Given the description of an element on the screen output the (x, y) to click on. 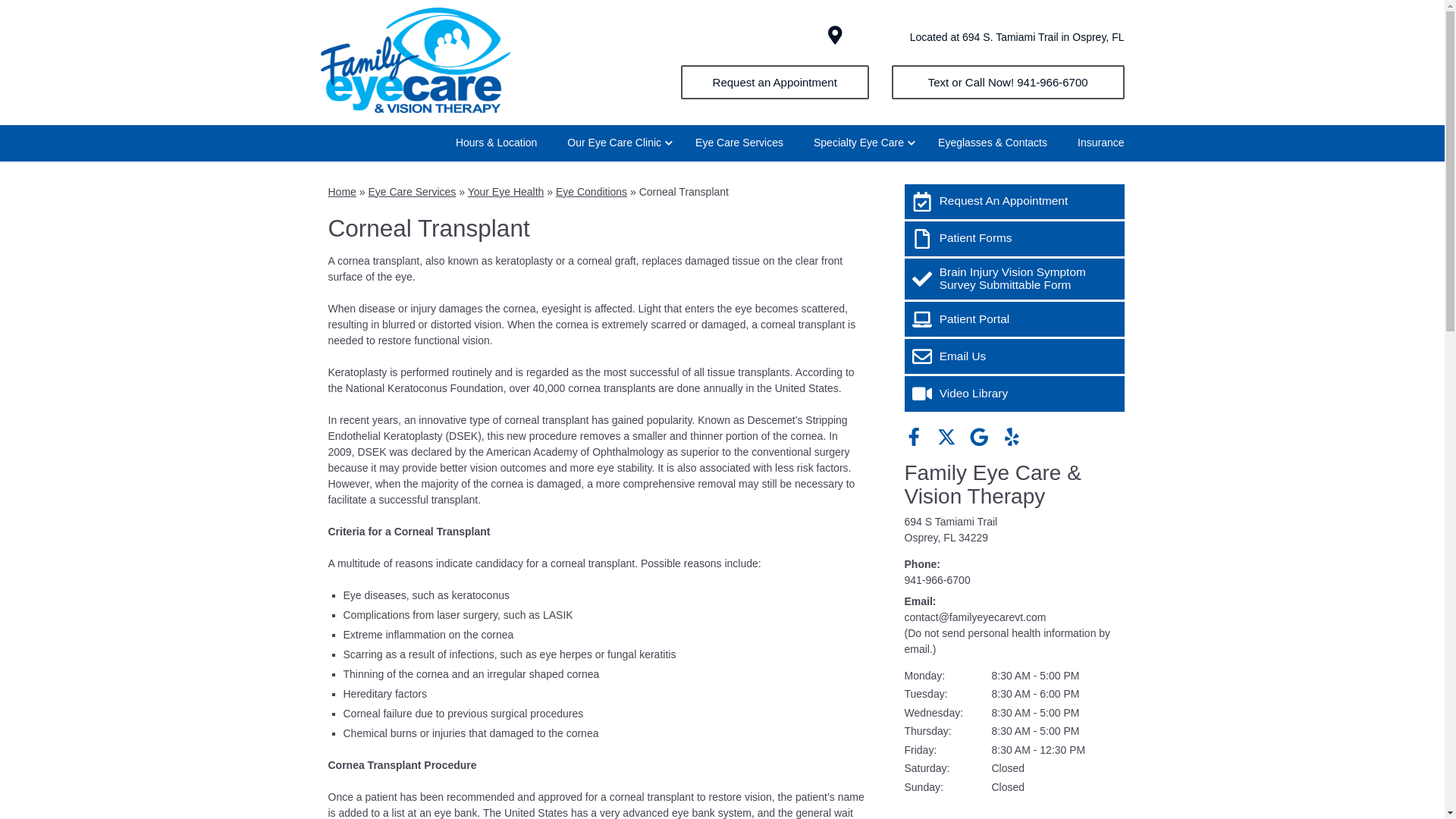
Insurance (1100, 142)
Google map (1014, 812)
Specialty Eye Care (860, 142)
Located at 694 S. Tamiami Trail in Osprey, FL (1017, 37)
Our Eye Care Clinic (615, 142)
Request an Appointment (775, 82)
Eye Care Services (738, 142)
Text or Call Now! 941-966-6700 (1007, 82)
